Given the description of an element on the screen output the (x, y) to click on. 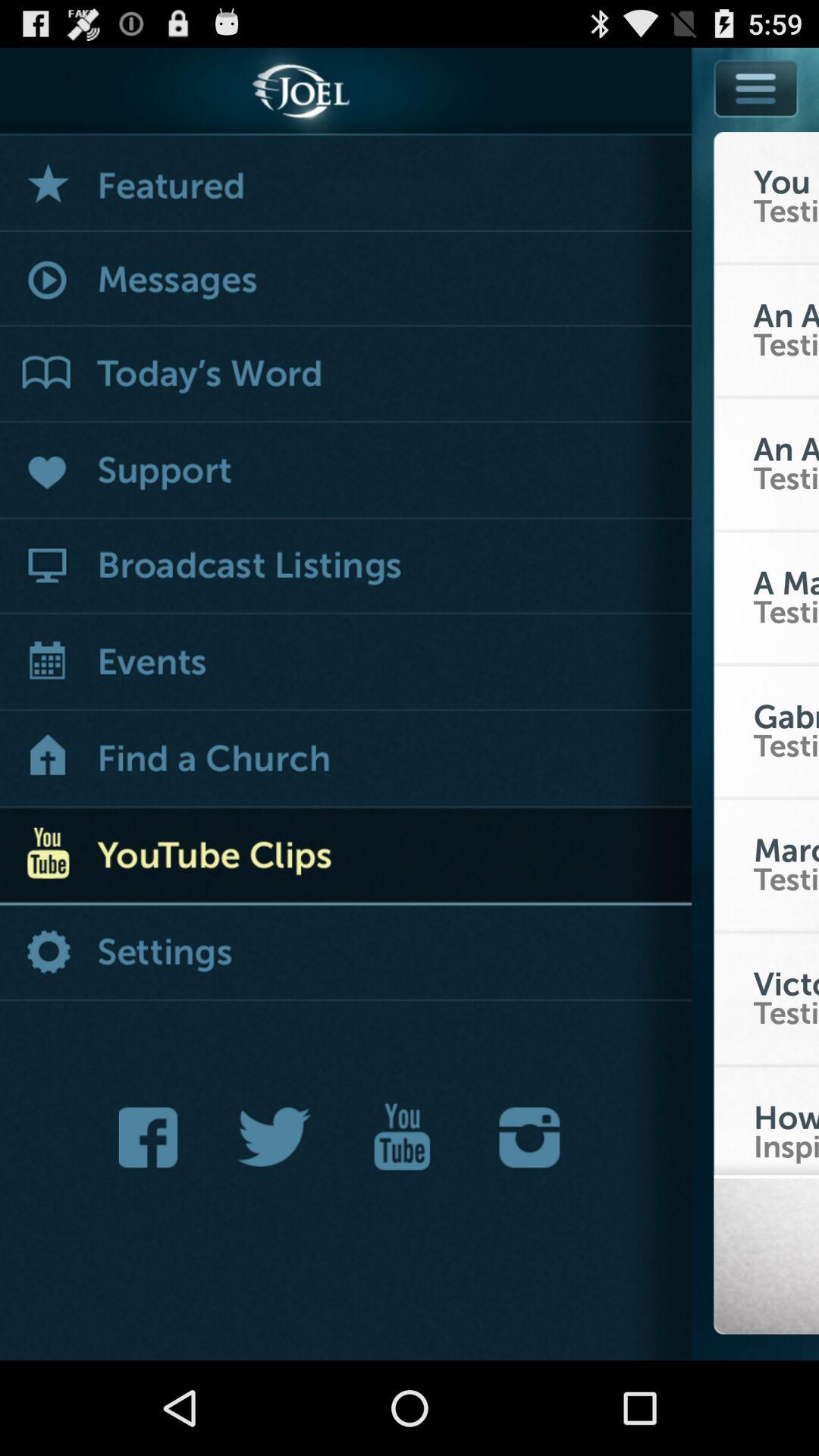
access messages (345, 280)
